Given the description of an element on the screen output the (x, y) to click on. 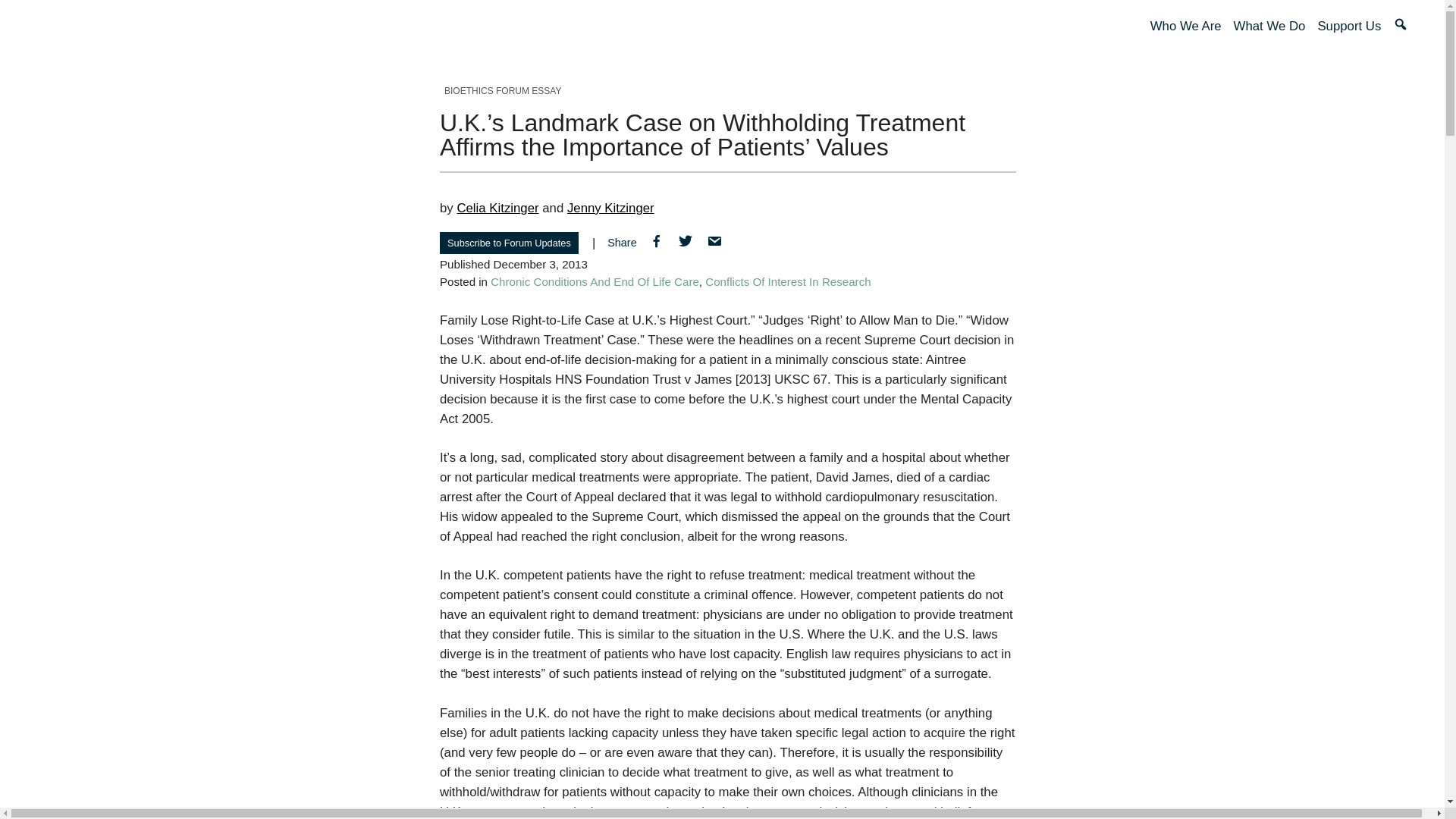
Jenny Kitzinger (610, 207)
Who We Are (1185, 26)
Support Us (1348, 26)
Subscribe to Forum Updates (508, 242)
Celia Kitzinger (497, 207)
Celia Kitzinger (497, 207)
What We Do (1269, 26)
The Hastings Center (168, 26)
Jenny Kitzinger (610, 207)
